Given the description of an element on the screen output the (x, y) to click on. 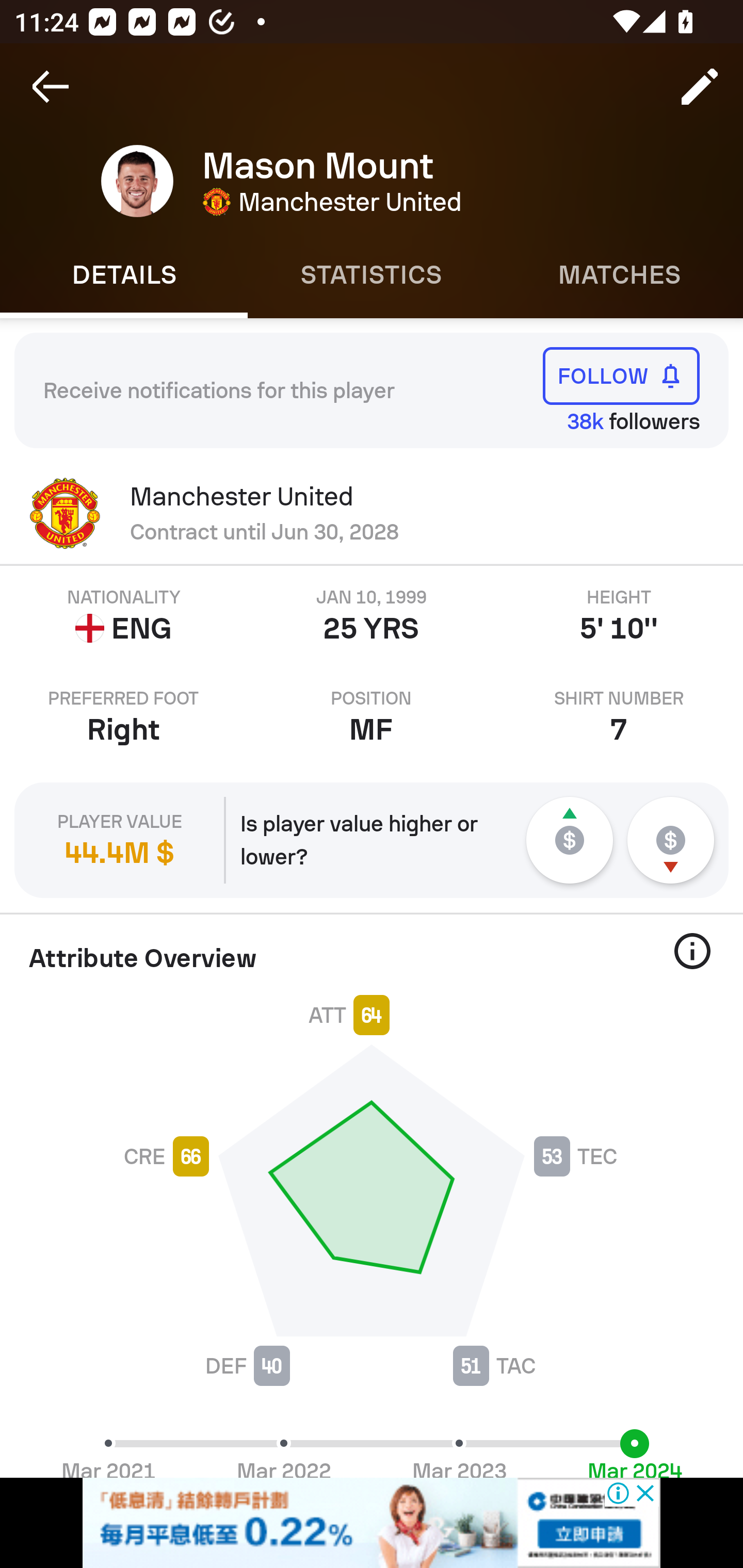
Navigate up (50, 86)
Edit (699, 86)
Statistics STATISTICS (371, 275)
Matches MATCHES (619, 275)
FOLLOW (621, 375)
Manchester United Contract until Jun 30, 2028 (371, 513)
NATIONALITY ENG (123, 616)
POSITION MF (371, 717)
Advertisement (371, 1522)
